Given the description of an element on the screen output the (x, y) to click on. 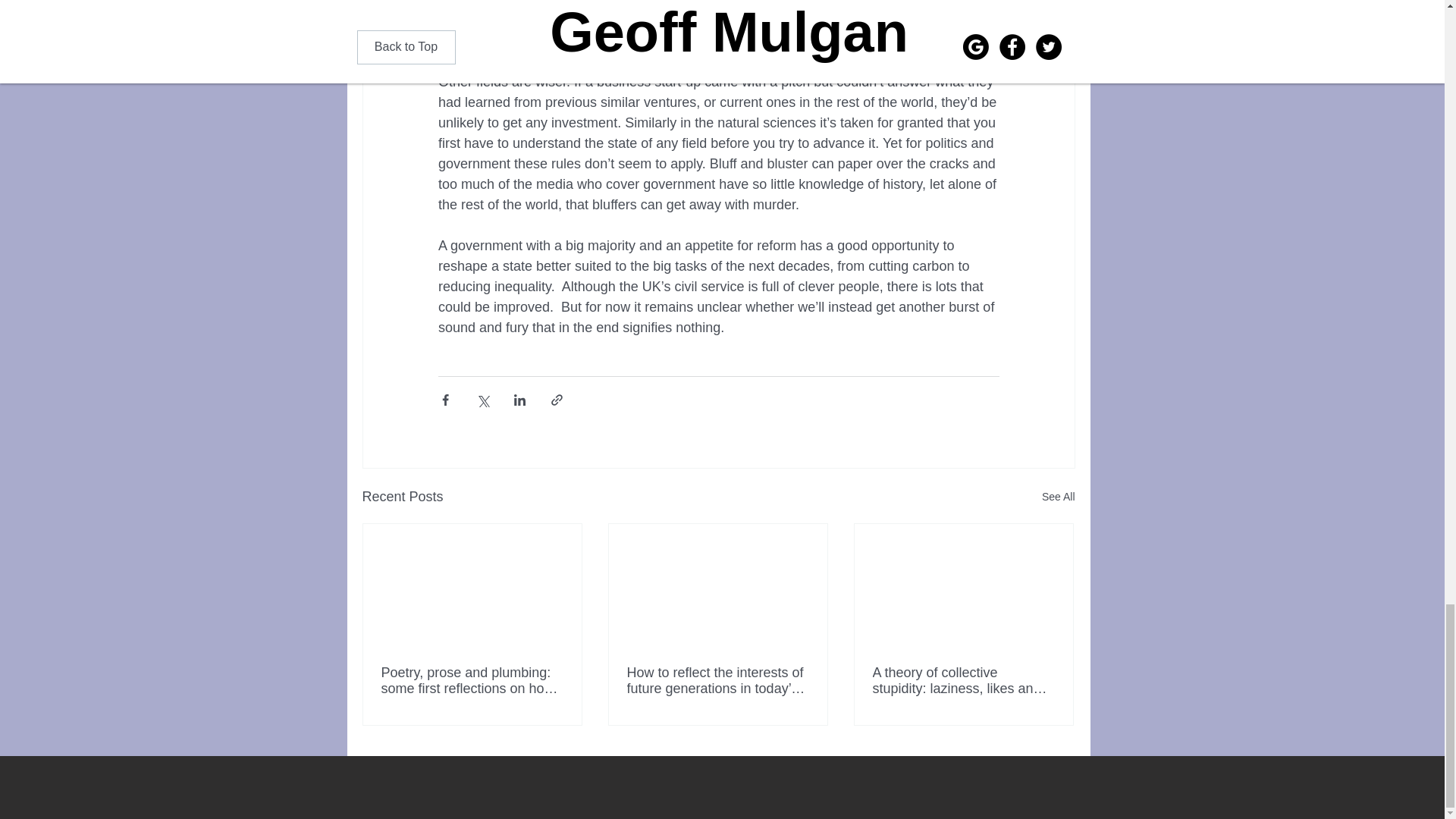
See All (1058, 496)
